Given the description of an element on the screen output the (x, y) to click on. 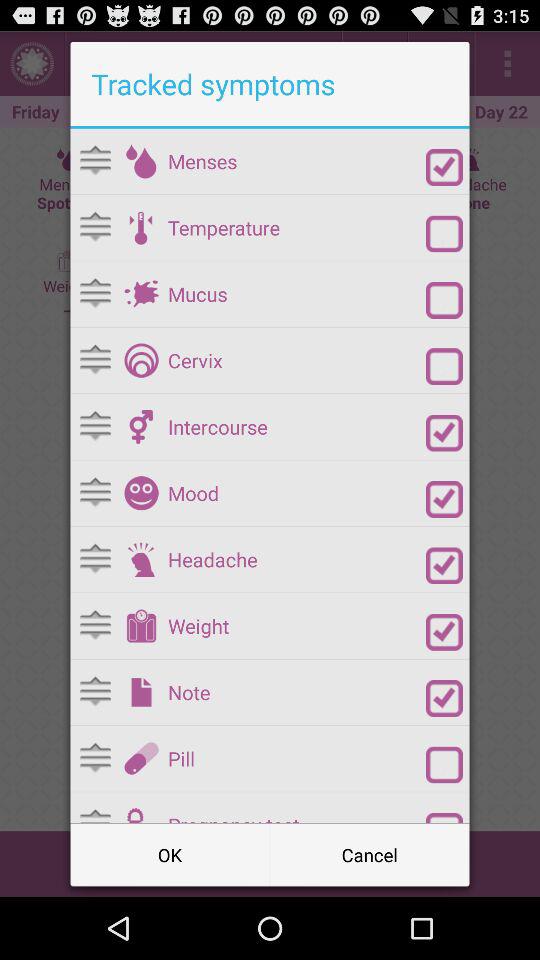
headache option (141, 559)
